Given the description of an element on the screen output the (x, y) to click on. 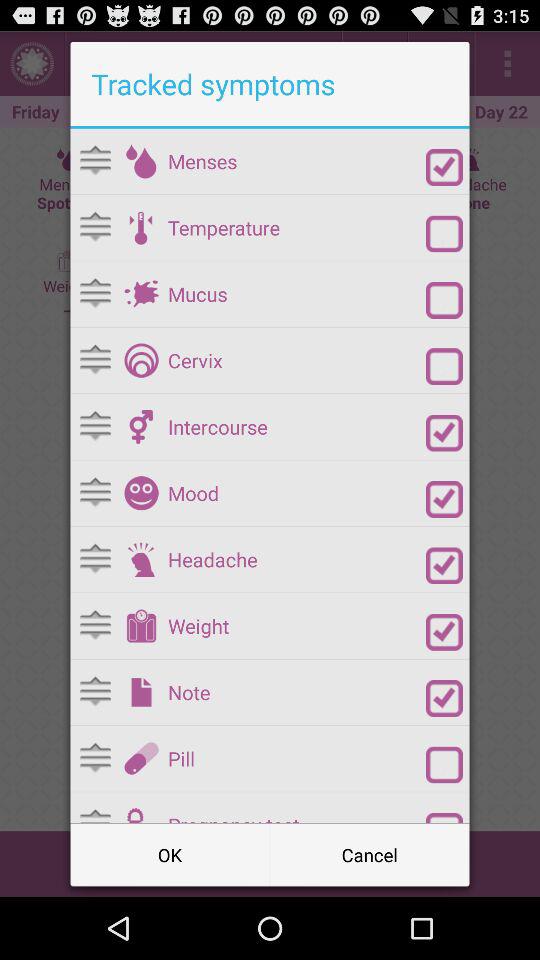
headache option (141, 559)
